Given the description of an element on the screen output the (x, y) to click on. 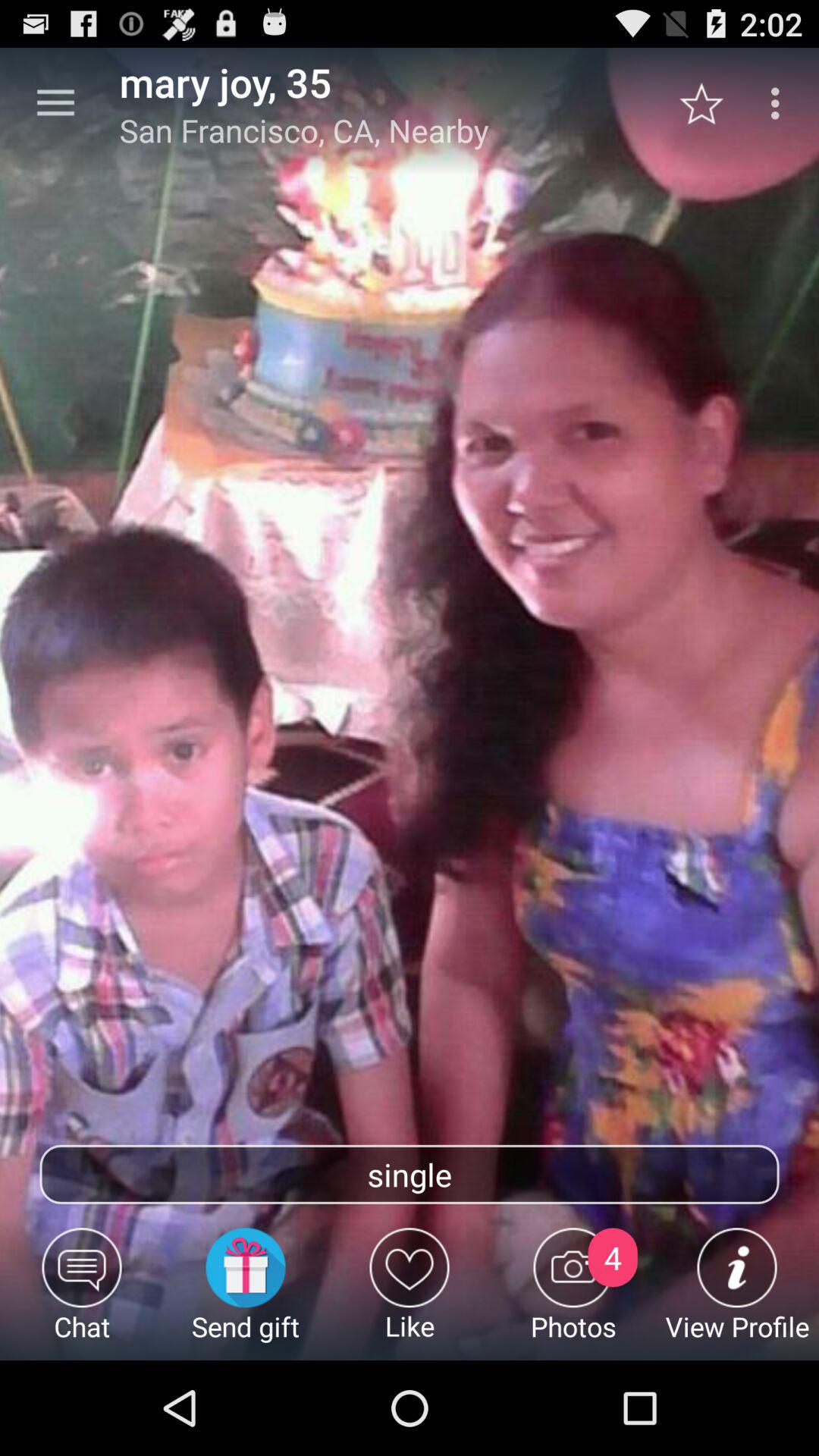
tap the item next to the send gift icon (409, 1293)
